Given the description of an element on the screen output the (x, y) to click on. 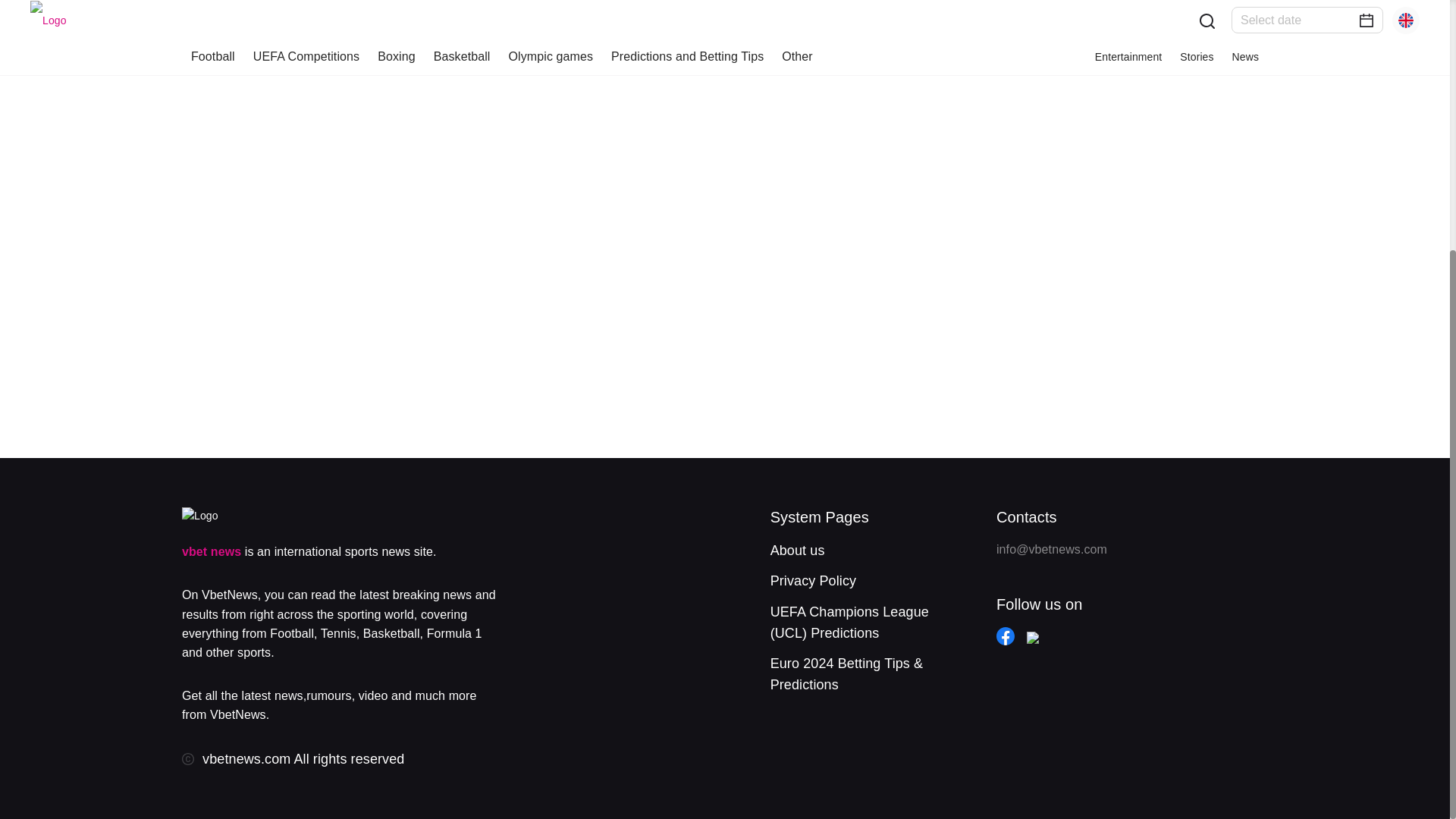
Privacy Policy (813, 580)
About us (797, 549)
vbet news (211, 551)
